Given the description of an element on the screen output the (x, y) to click on. 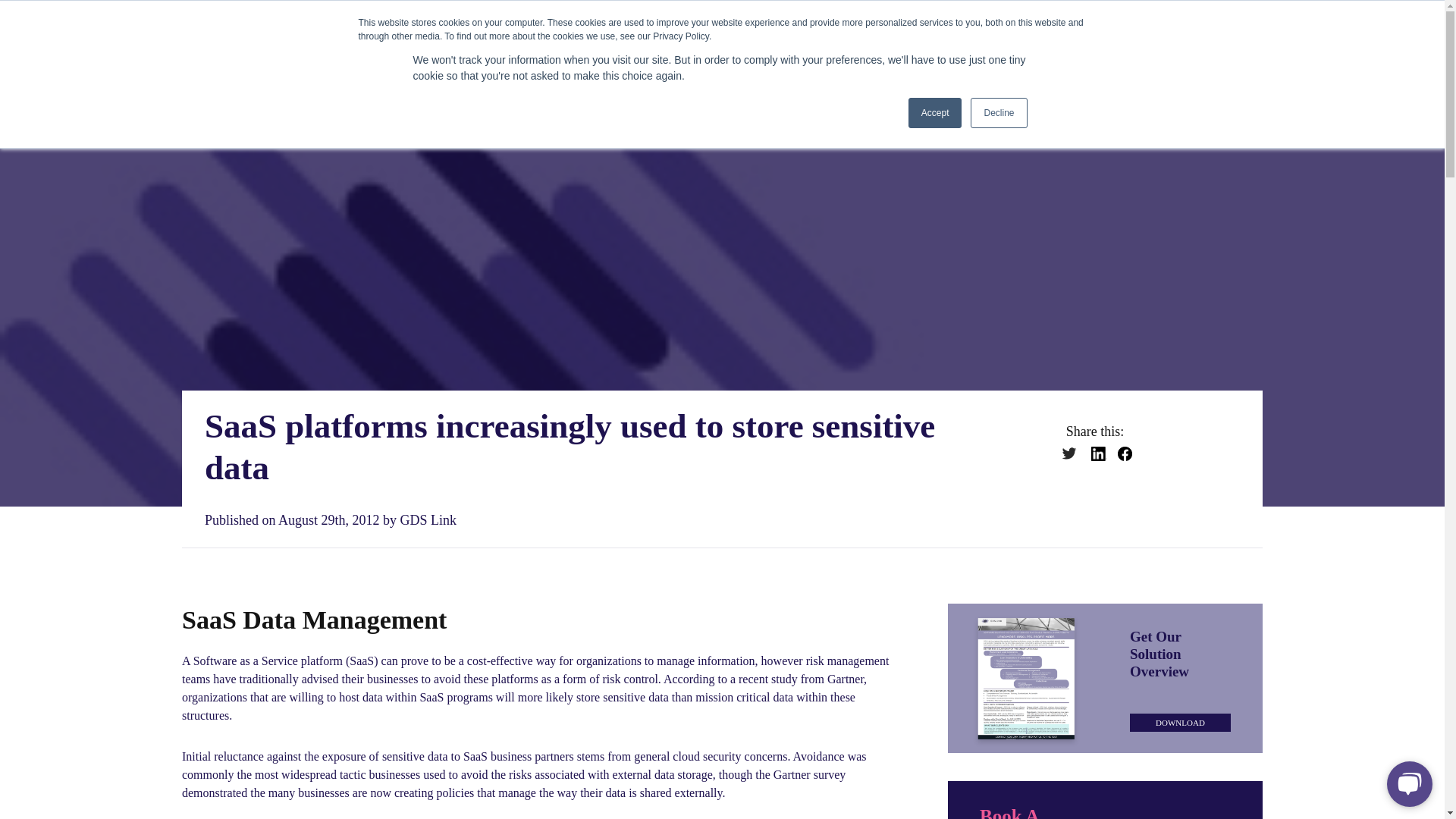
Company (1187, 55)
GDS Link Marketing Services (656, 55)
Analytics and Services (842, 55)
Industries (977, 55)
Resources (1082, 55)
Decline (998, 112)
Solutions (502, 55)
Accept (935, 112)
